Given the description of an element on the screen output the (x, y) to click on. 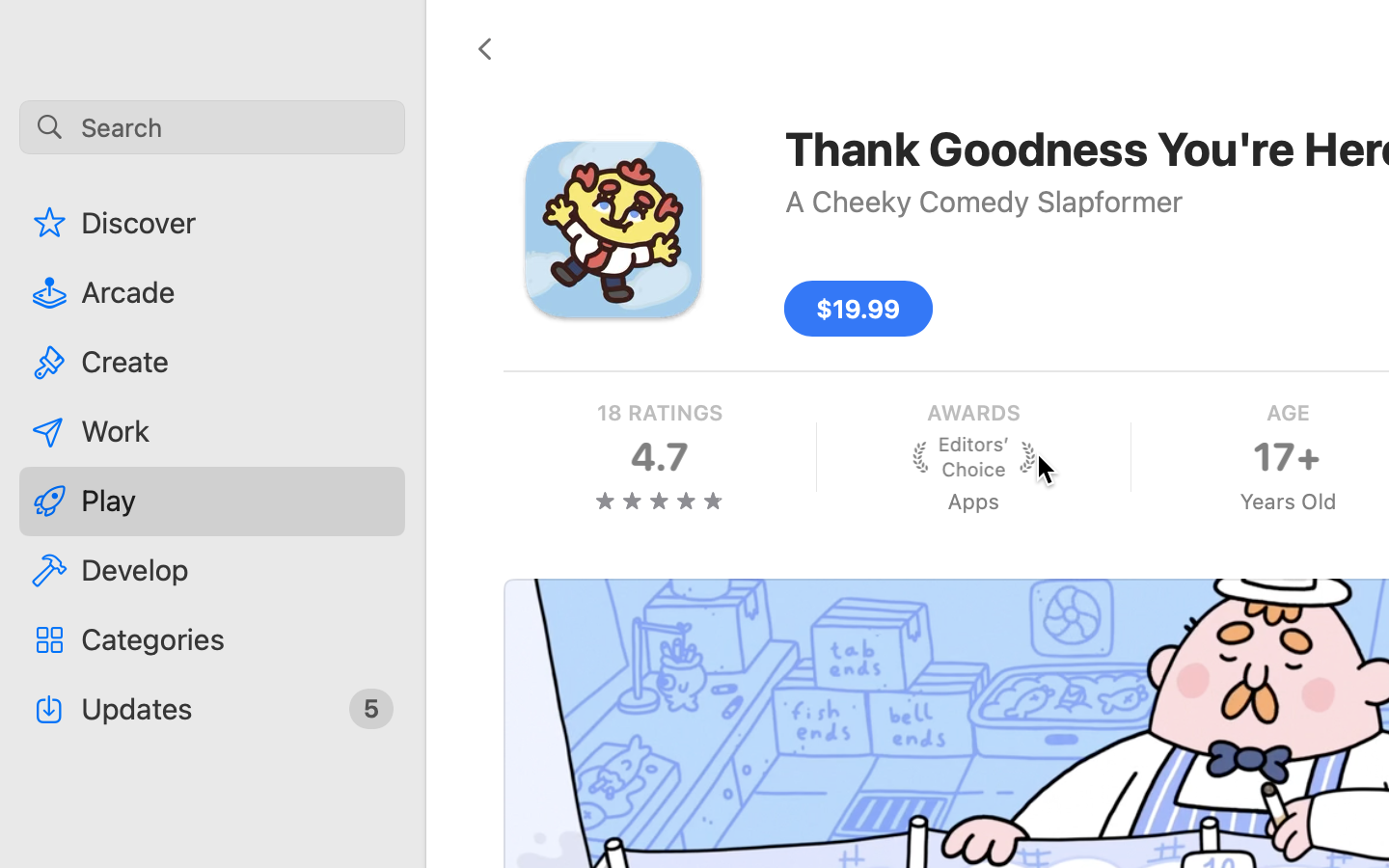
17+ Element type: AXStaticText (1286, 457)
Apps, AWARDS, Editors’
Choice Element type: AXStaticText (972, 456)
4.7 Element type: AXStaticText (658, 457)
Editors’
Choice Element type: AXStaticText (972, 457)
18 RATINGS Element type: AXStaticText (659, 412)
